Given the description of an element on the screen output the (x, y) to click on. 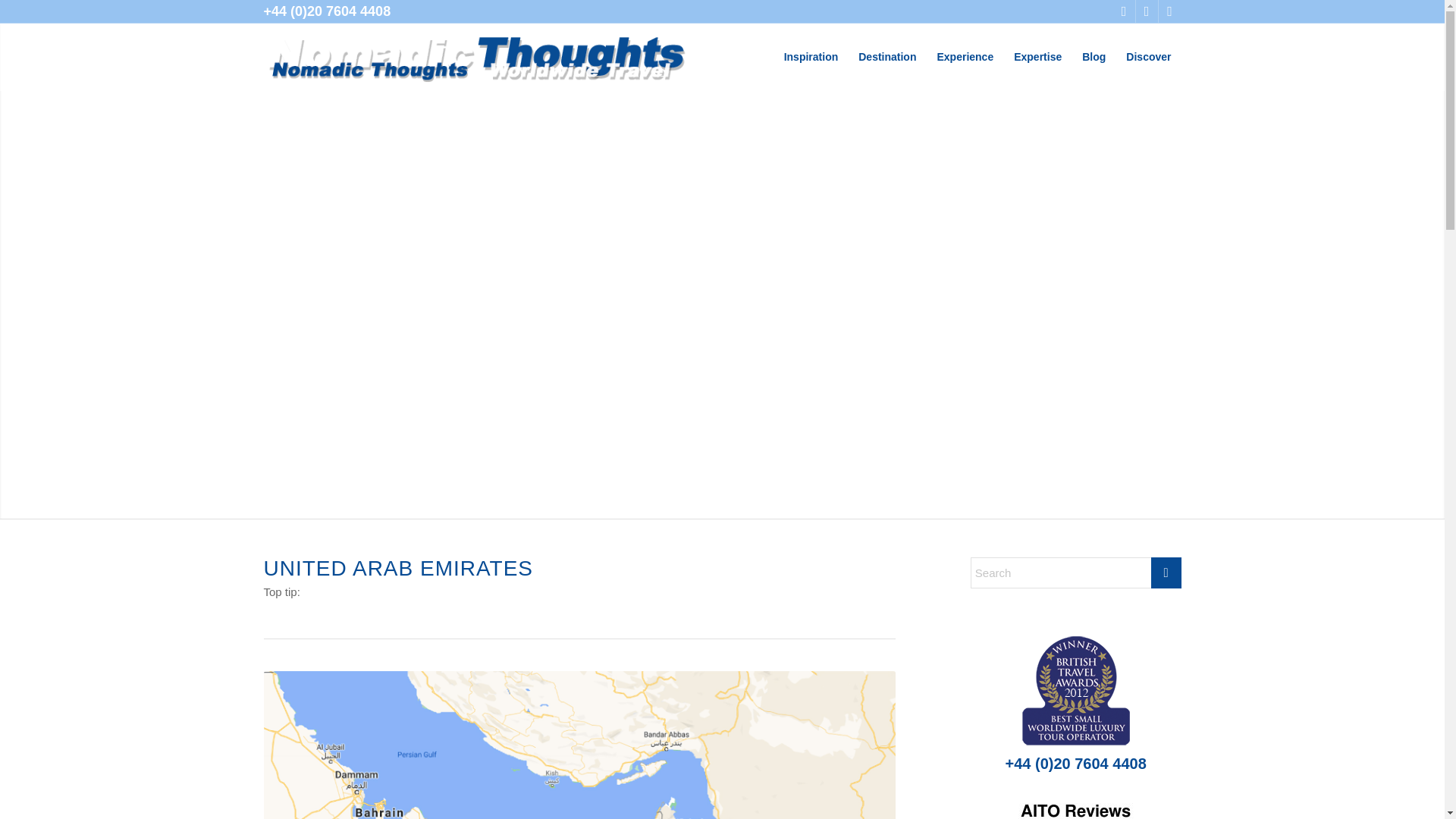
X (1124, 11)
logo (475, 56)
UAE (579, 744)
Expertise (1037, 56)
Inspiration (811, 56)
Experience (964, 56)
Instagram (1146, 11)
Mail (1169, 11)
Destination (886, 56)
